Given the description of an element on the screen output the (x, y) to click on. 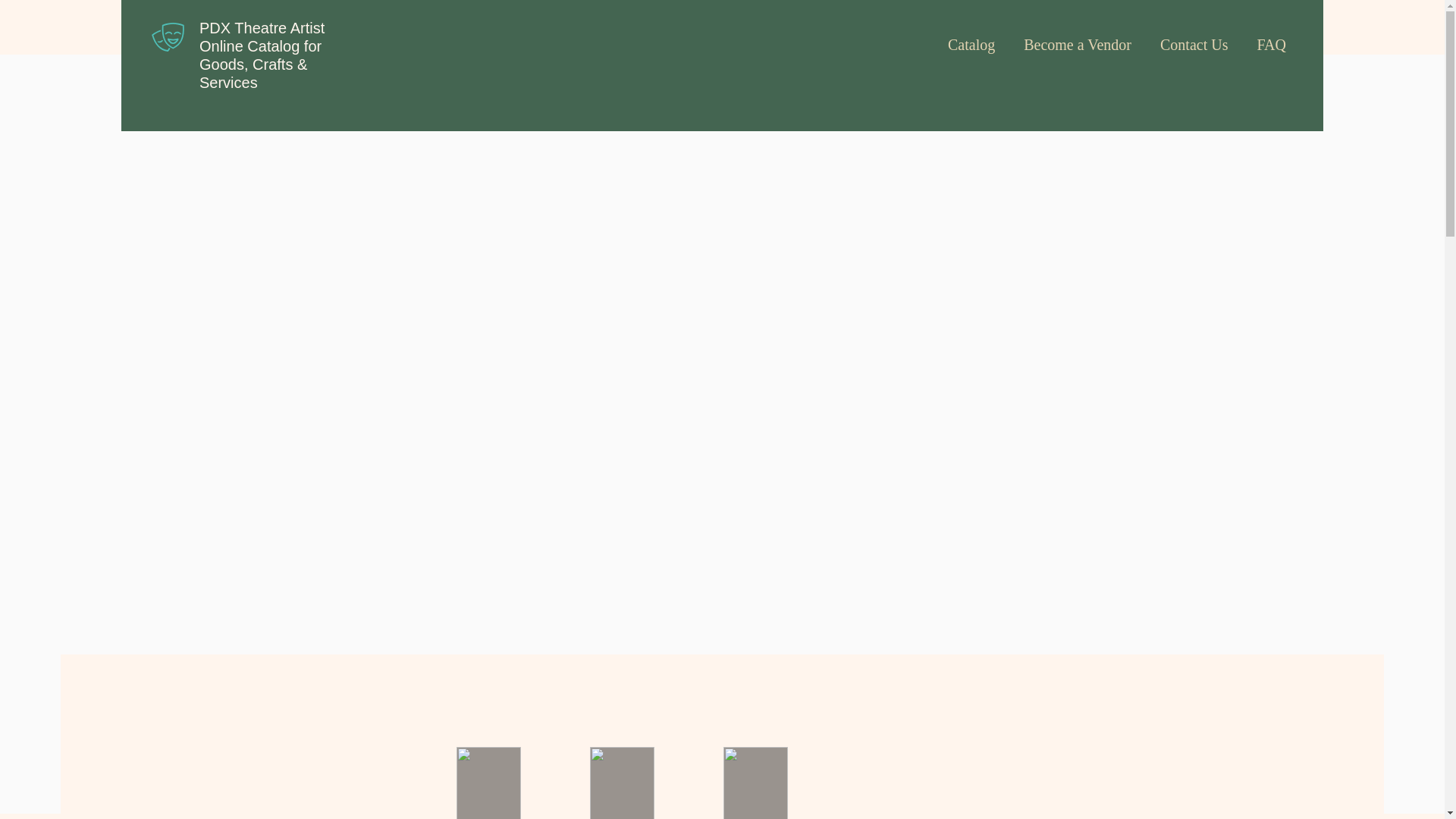
Contact Us (1193, 37)
FAQ (1270, 37)
Become a Vendor (1077, 37)
Catalog (971, 37)
